Given the description of an element on the screen output the (x, y) to click on. 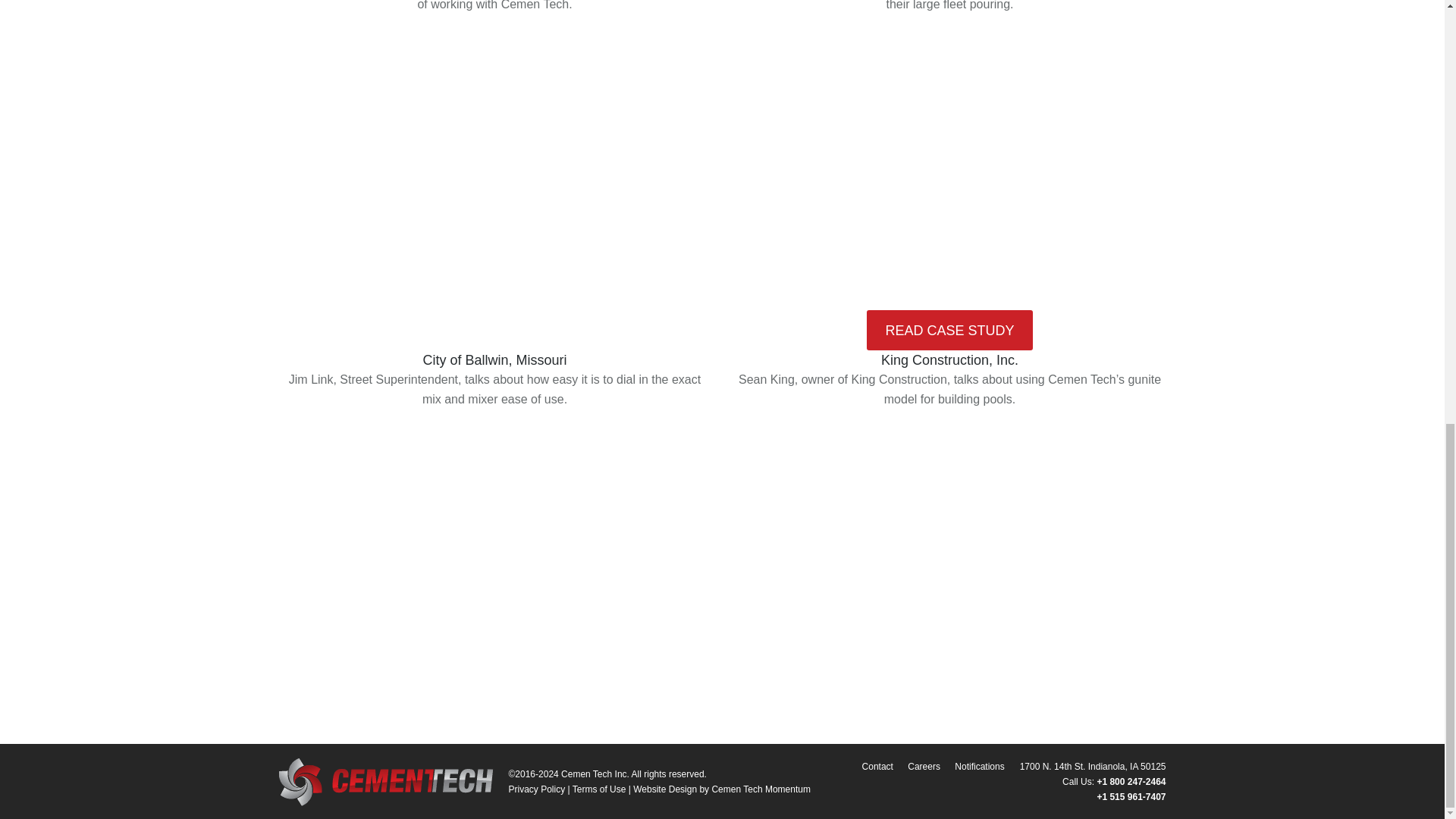
City of Ballwin  Utilizes Cemen Tech Volumetric Mixer (495, 557)
Battleground Takes The Fight Out Of Concrete (495, 162)
Cemen Tech Customer Service (949, 162)
